Given the description of an element on the screen output the (x, y) to click on. 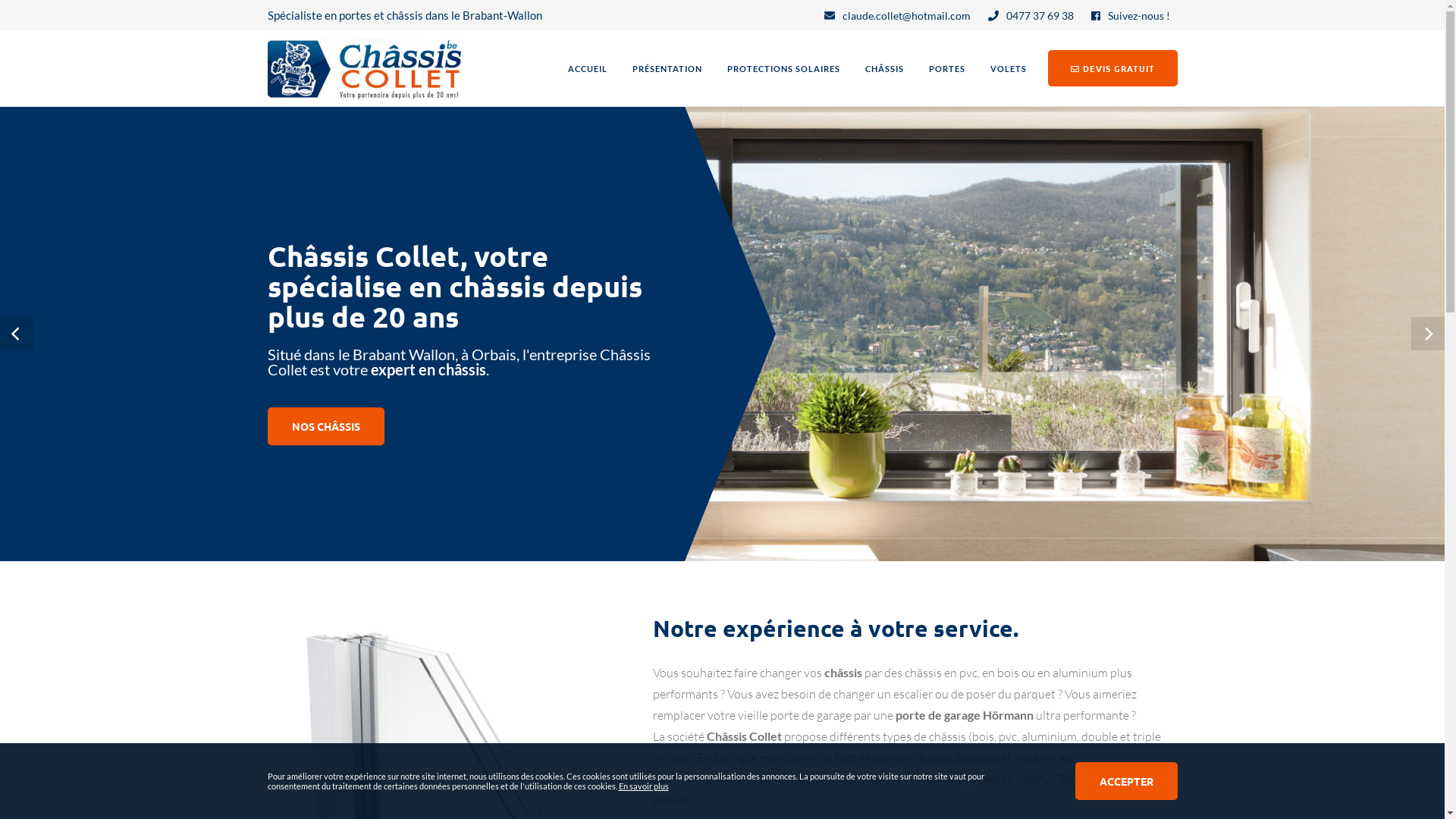
VOLETS Element type: text (1007, 68)
PROTECTIONS SOLAIRES Element type: text (783, 68)
DEVIS GRATUIT Element type: text (1112, 68)
ACCEPTER Element type: text (1126, 781)
ACCUEIL Element type: text (587, 68)
claude.collet@hotmail.com Element type: text (896, 15)
En savoir plus Element type: text (643, 785)
0477 37 69 38 Element type: text (1029, 15)
Suivez-nous ! Element type: text (1129, 15)
PORTES Element type: text (946, 68)
